Given the description of an element on the screen output the (x, y) to click on. 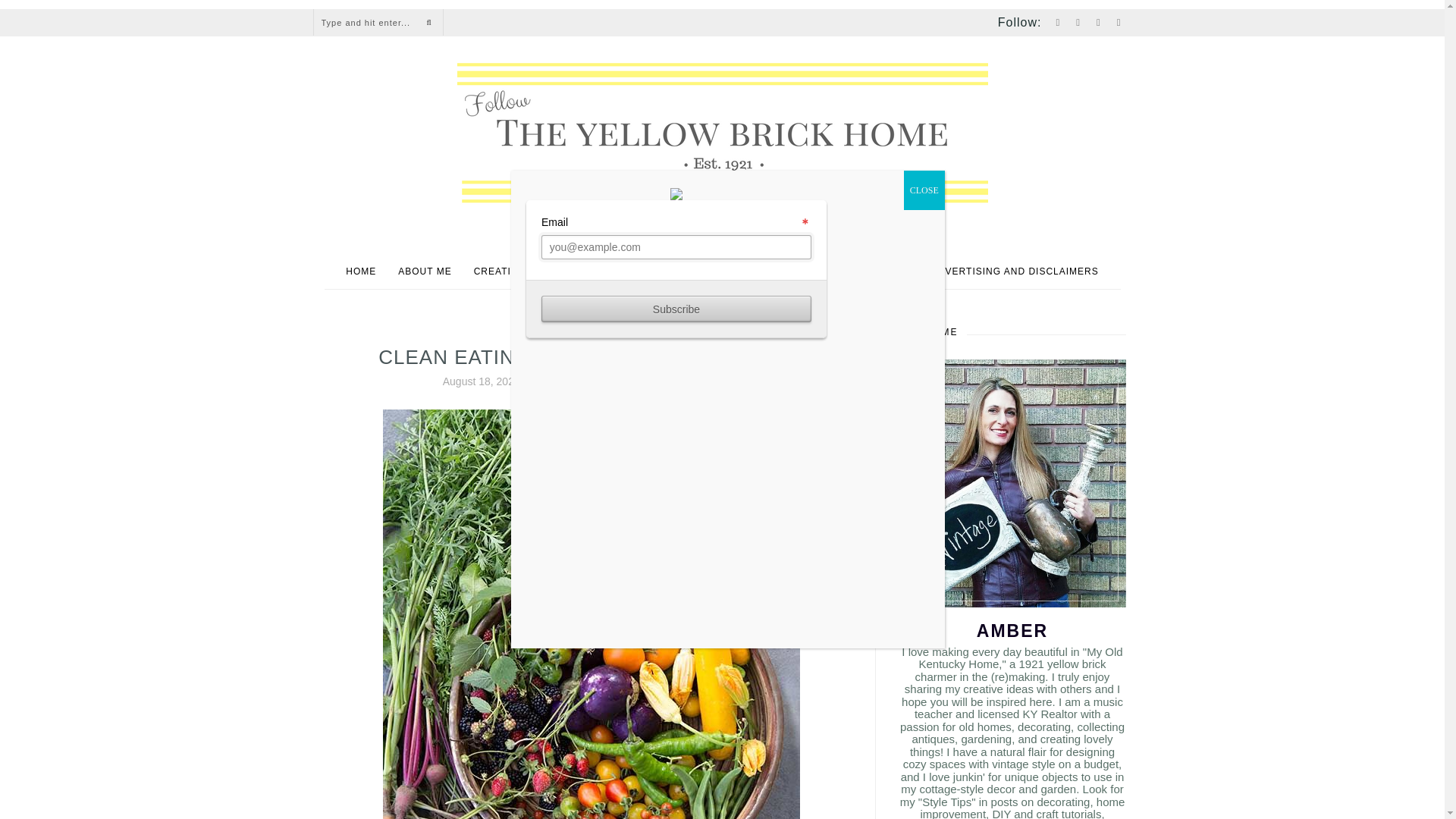
Posts by Amber Lyon Ferguson (589, 381)
ABOUT ME (424, 271)
HOME TOURS (715, 271)
CONTACT (796, 271)
CREATIVE IDEAS AND INSPIRATION (566, 271)
